Given the description of an element on the screen output the (x, y) to click on. 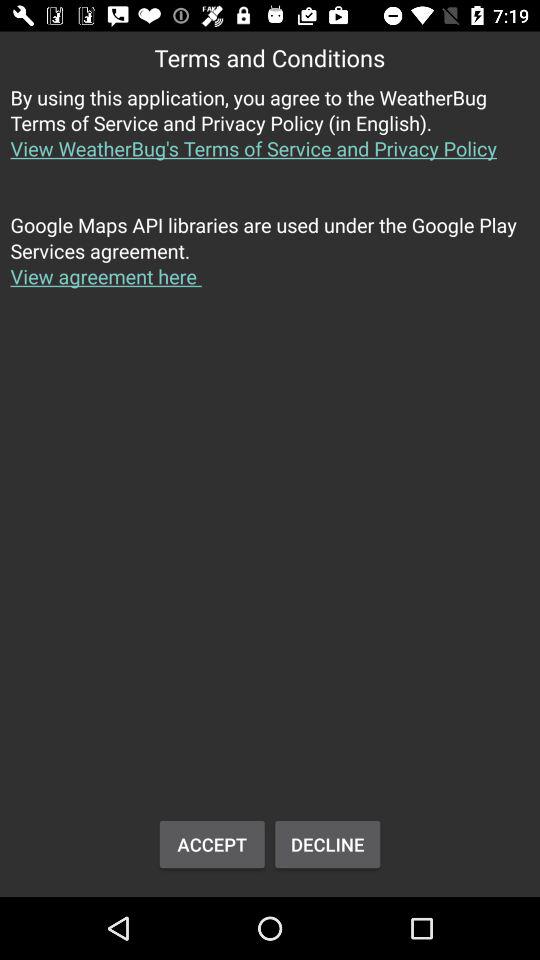
choose button next to the accept icon (327, 844)
